Given the description of an element on the screen output the (x, y) to click on. 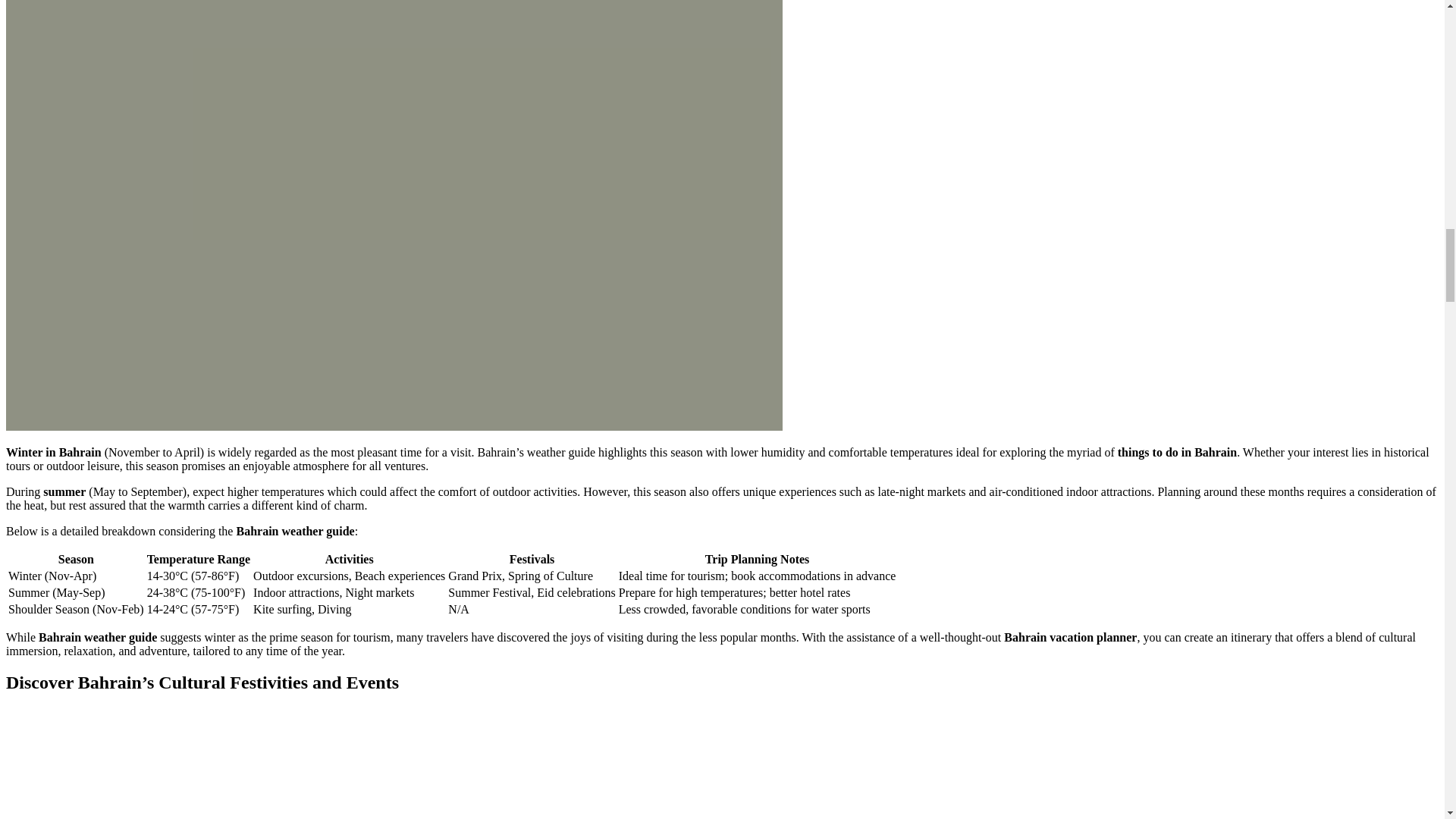
Five Great Battles at the Bahrain Grand Prix (460, 763)
